Given the description of an element on the screen output the (x, y) to click on. 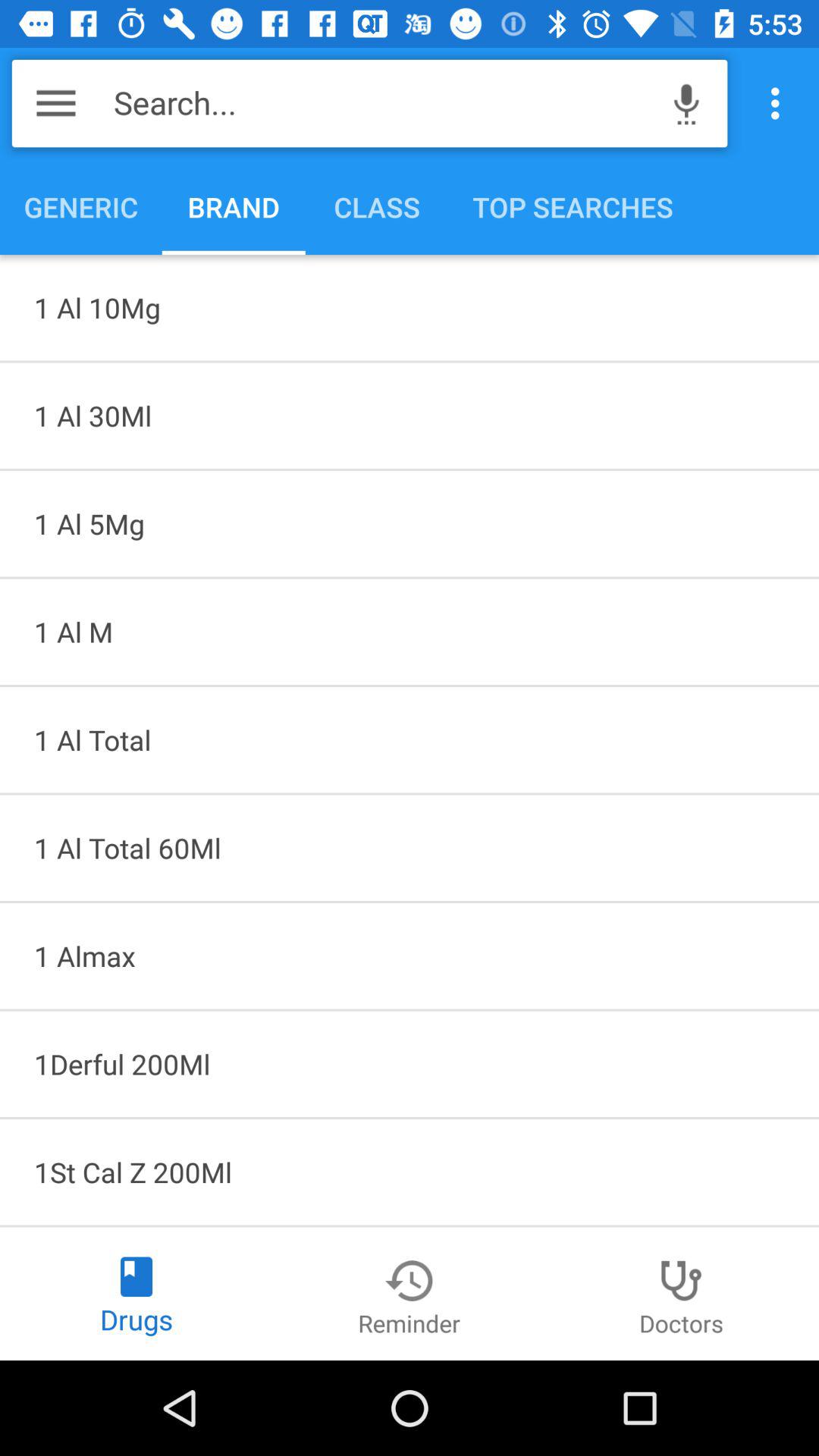
click the icon next to search... (686, 103)
